Given the description of an element on the screen output the (x, y) to click on. 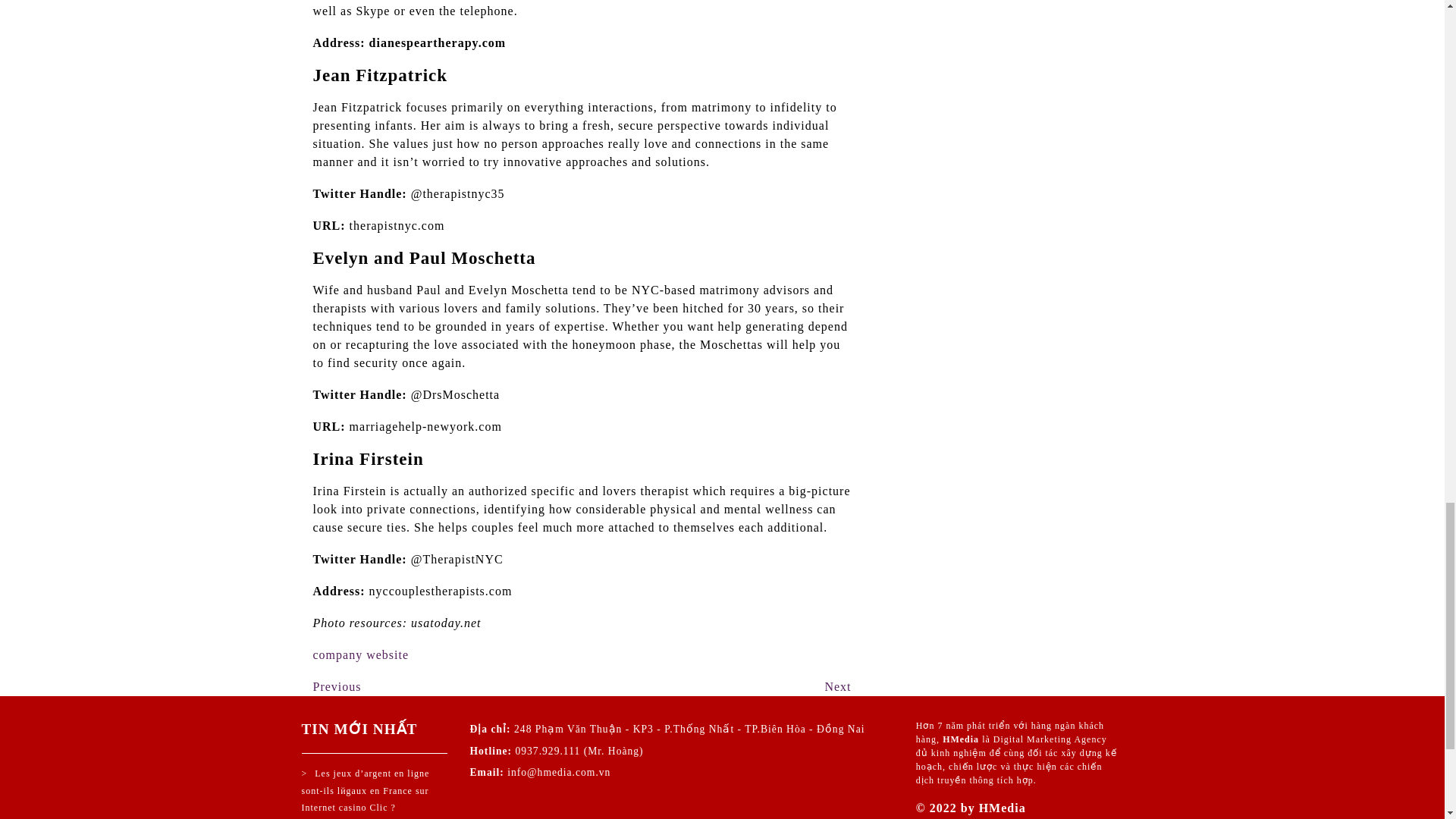
company website (837, 686)
